Given the description of an element on the screen output the (x, y) to click on. 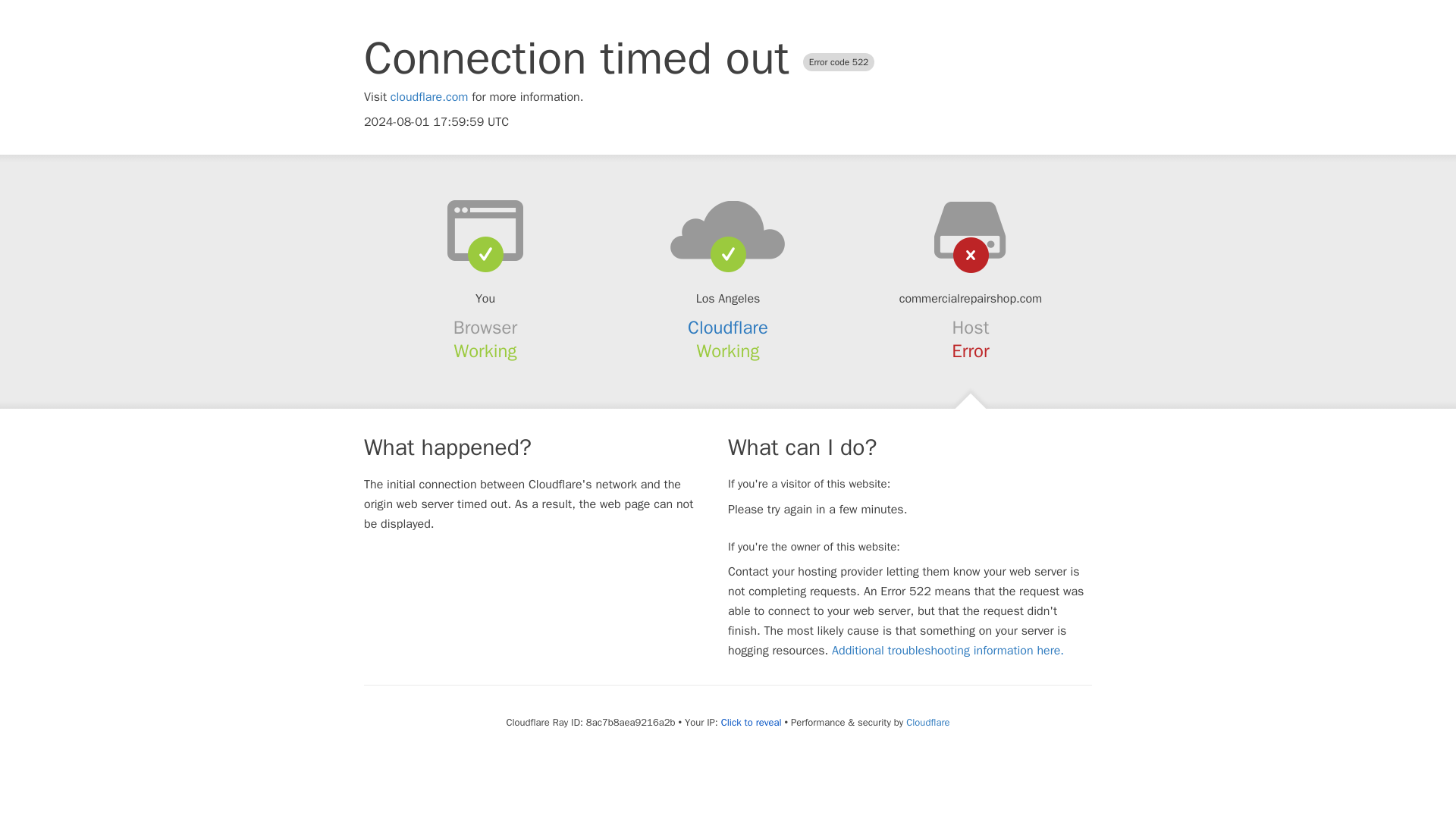
cloudflare.com (429, 96)
Cloudflare (727, 327)
Cloudflare (927, 721)
Click to reveal (750, 722)
Additional troubleshooting information here. (947, 650)
